Given the description of an element on the screen output the (x, y) to click on. 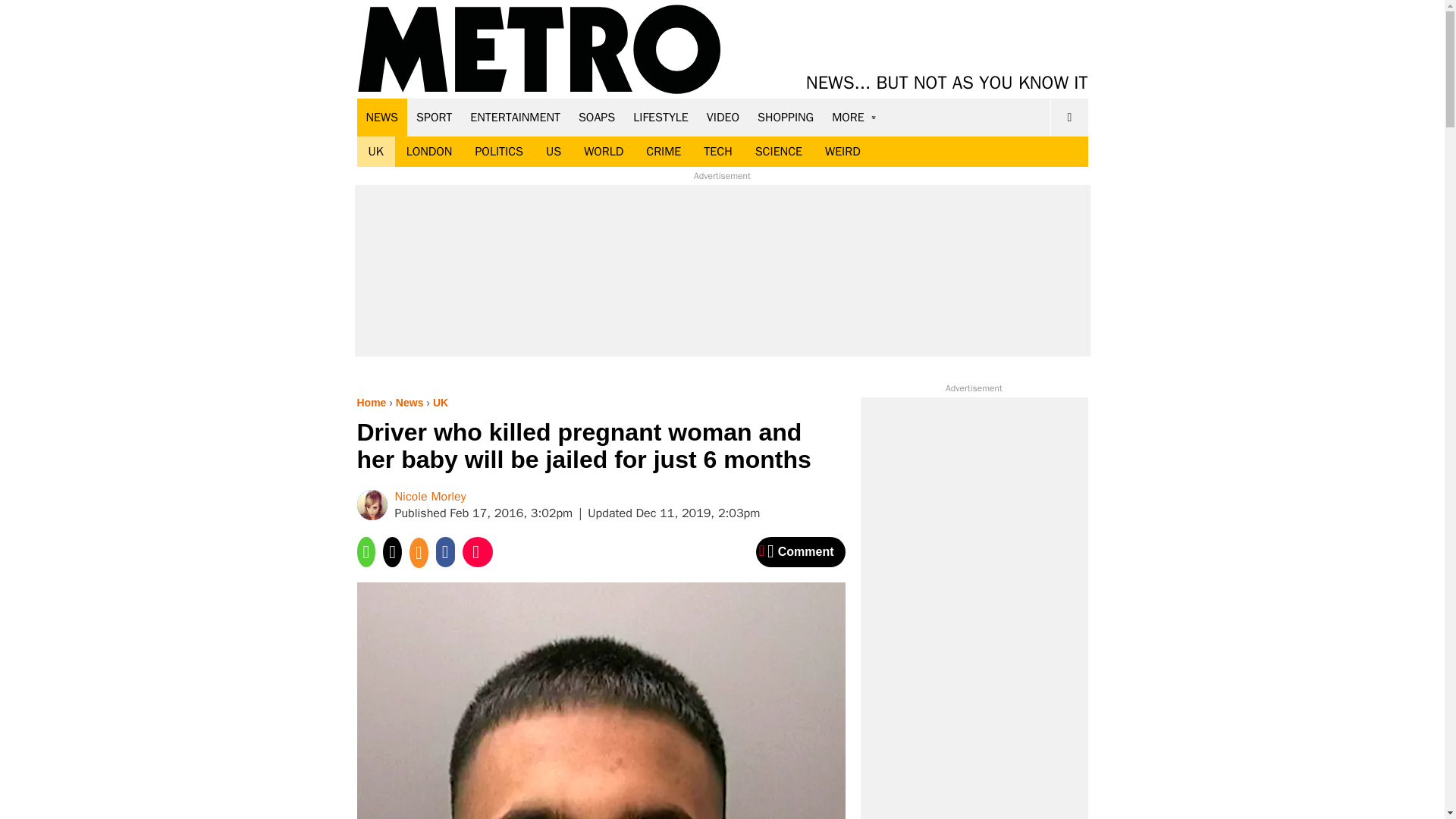
SCIENCE (778, 151)
UK (375, 151)
TECH (717, 151)
SPORT (434, 117)
ENTERTAINMENT (515, 117)
NEWS (381, 117)
CRIME (663, 151)
POLITICS (498, 151)
Metro (539, 50)
LONDON (429, 151)
